Given the description of an element on the screen output the (x, y) to click on. 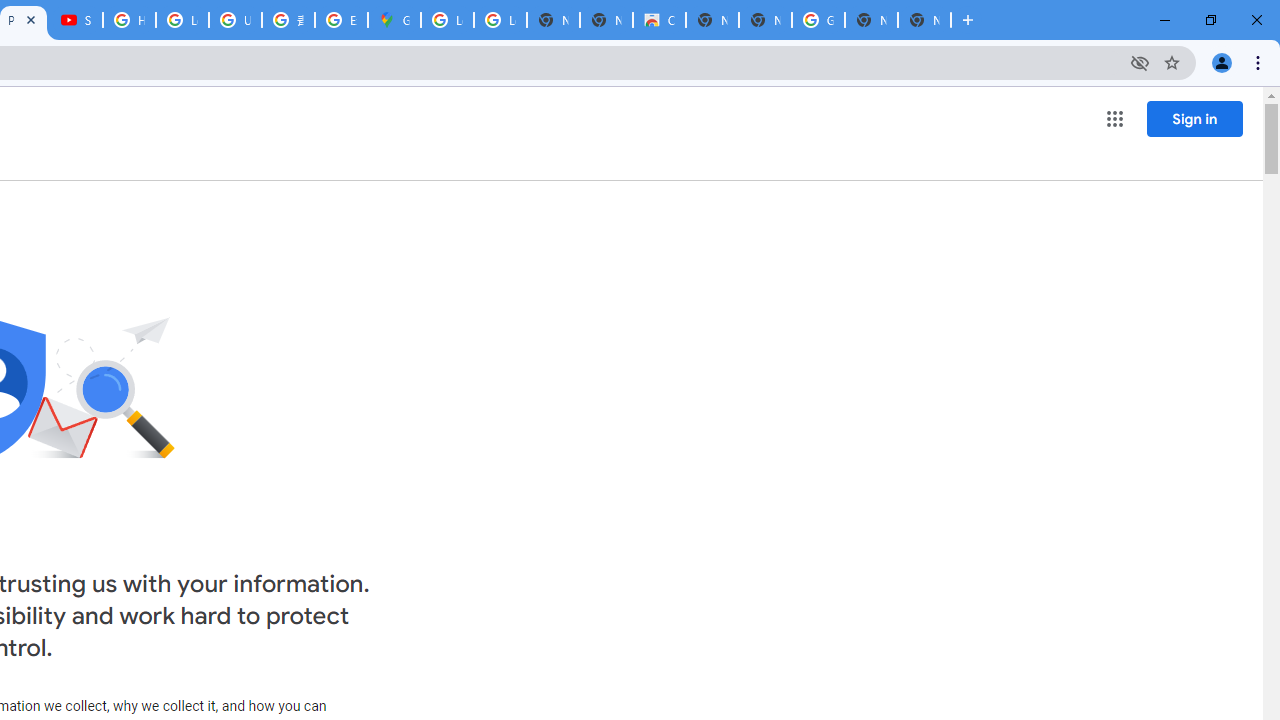
Chrome Web Store (659, 20)
